Given the description of an element on the screen output the (x, y) to click on. 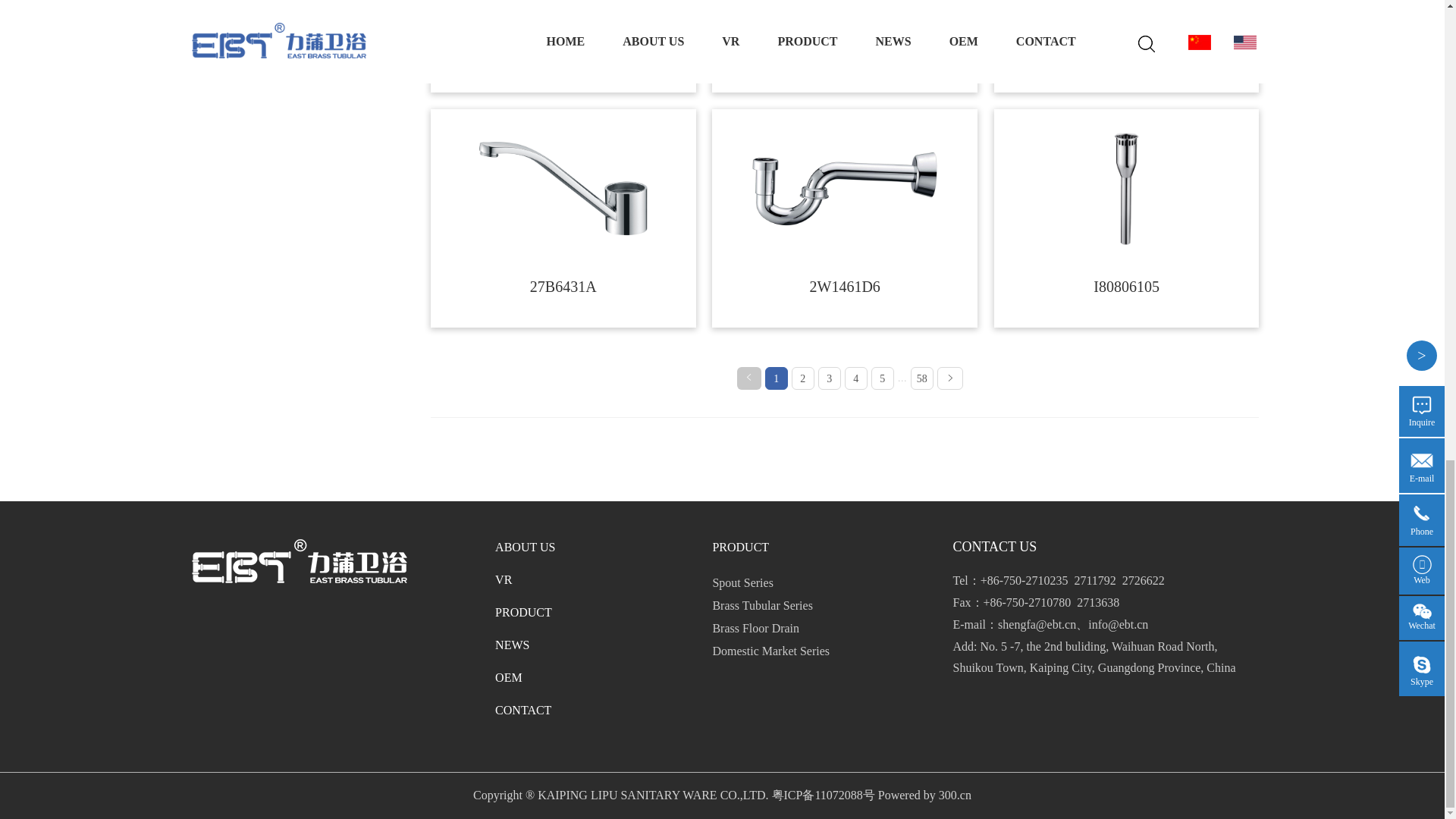
27B6406A (845, 4)
27B6407A (563, 4)
27B6431A (563, 188)
EBT (298, 560)
2W1461D6 (844, 188)
